Given the description of an element on the screen output the (x, y) to click on. 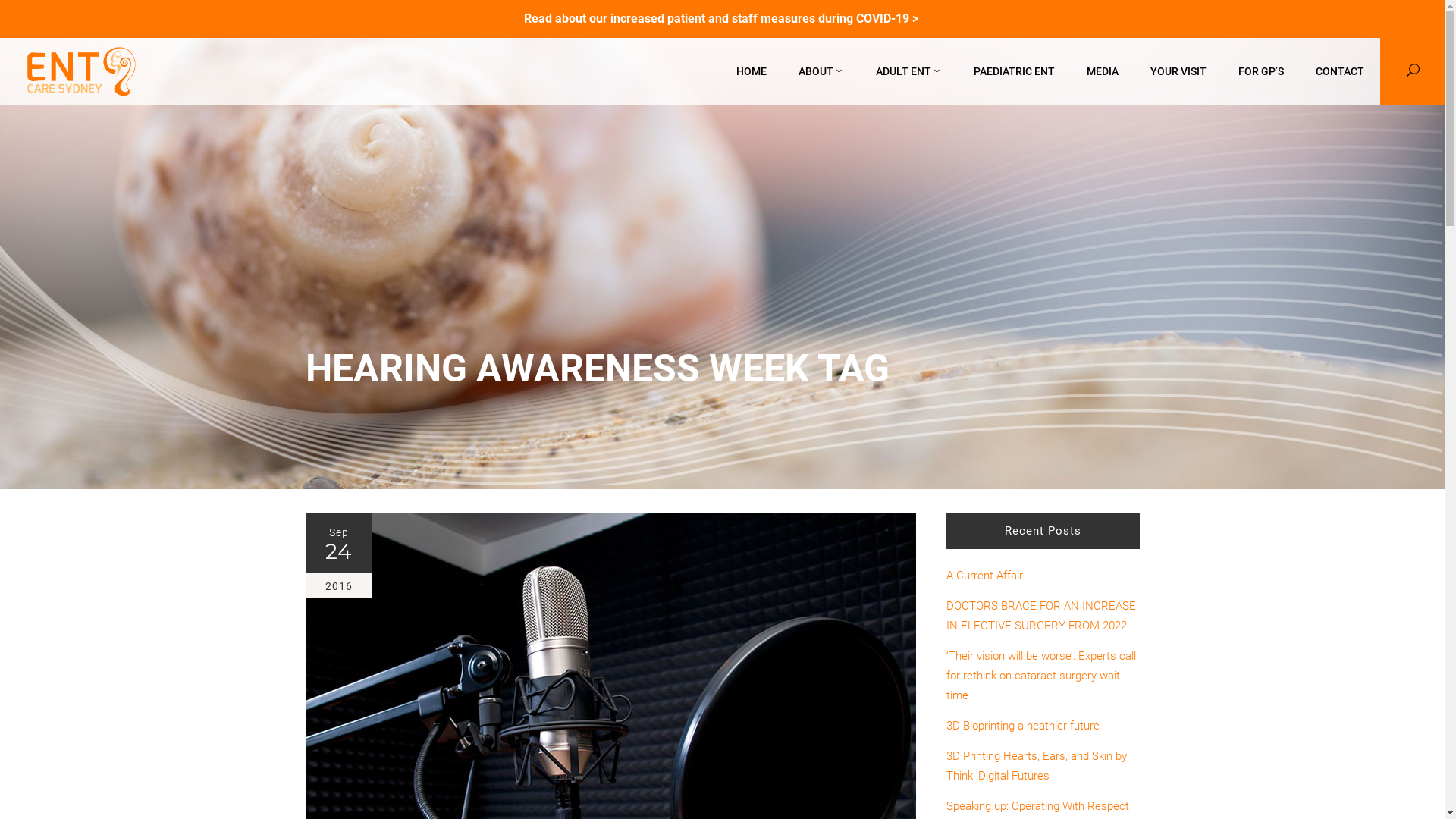
YOUR VISIT Element type: text (1178, 70)
HOME Element type: text (751, 70)
ADULT ENT Element type: text (908, 70)
ABOUT Element type: text (820, 70)
MEDIA Element type: text (1102, 70)
DOCTORS BRACE FOR AN INCREASE IN ELECTIVE SURGERY FROM 2022 Element type: text (1042, 615)
3D Bioprinting a heathier future Element type: text (1042, 725)
PAEDIATRIC ENT Element type: text (1013, 70)
3D Printing Hearts, Ears, and Skin by Think: Digital Futures Element type: text (1042, 765)
CONTACT Element type: text (1339, 70)
A Current Affair Element type: text (1042, 575)
